Given the description of an element on the screen output the (x, y) to click on. 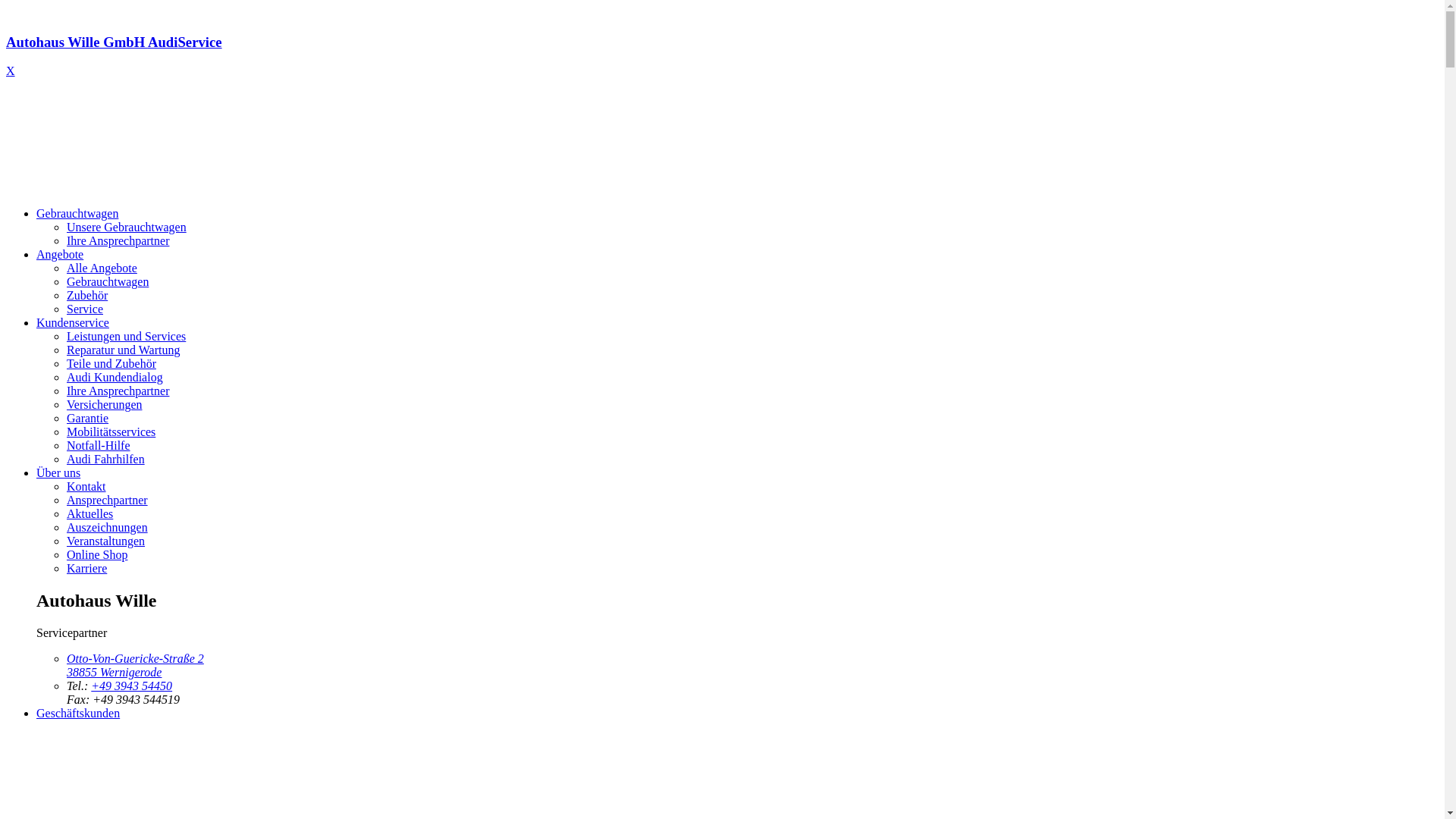
Aktuelles Element type: text (89, 513)
Unsere Gebrauchtwagen Element type: text (126, 226)
Online Shop Element type: text (96, 554)
Service Element type: text (84, 308)
+49 3943 54450 Element type: text (131, 685)
Ihre Ansprechpartner Element type: text (117, 390)
Notfall-Hilfe Element type: text (98, 445)
Ansprechpartner Element type: text (106, 499)
X Element type: text (10, 70)
Versicherungen Element type: text (104, 404)
Autohaus Wille GmbH AudiService Element type: text (722, 56)
Ihre Ansprechpartner Element type: text (117, 240)
Angebote Element type: text (59, 253)
Gebrauchtwagen Element type: text (77, 213)
Kundenservice Element type: text (72, 322)
Auszeichnungen Element type: text (106, 526)
Leistungen und Services Element type: text (125, 335)
Audi Kundendialog Element type: text (114, 376)
Kontakt Element type: text (86, 486)
Gebrauchtwagen Element type: text (107, 281)
Veranstaltungen Element type: text (105, 540)
Reparatur und Wartung Element type: text (122, 349)
Audi Fahrhilfen Element type: text (105, 458)
Garantie Element type: text (87, 417)
Alle Angebote Element type: text (101, 267)
Karriere Element type: text (86, 567)
